Given the description of an element on the screen output the (x, y) to click on. 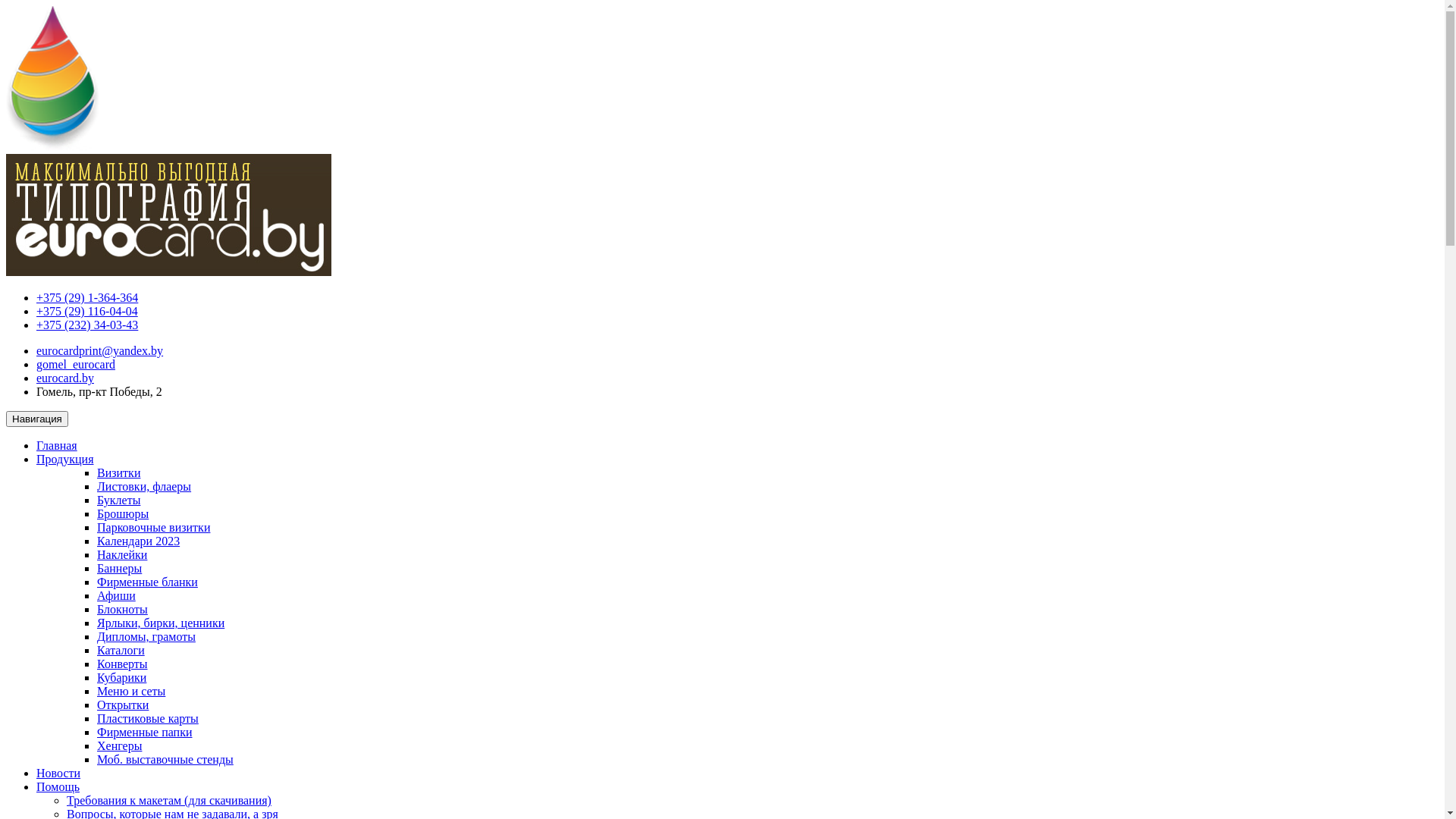
+375 (29) 1-364-364 Element type: text (87, 297)
+375 (29) 116-04-04 Element type: text (87, 310)
gomel_eurocard Element type: text (75, 363)
+375 (232) 34-03-43 Element type: text (87, 324)
eurocard.by Element type: text (65, 377)
eurocardprint@yandex.by Element type: text (99, 350)
